Given the description of an element on the screen output the (x, y) to click on. 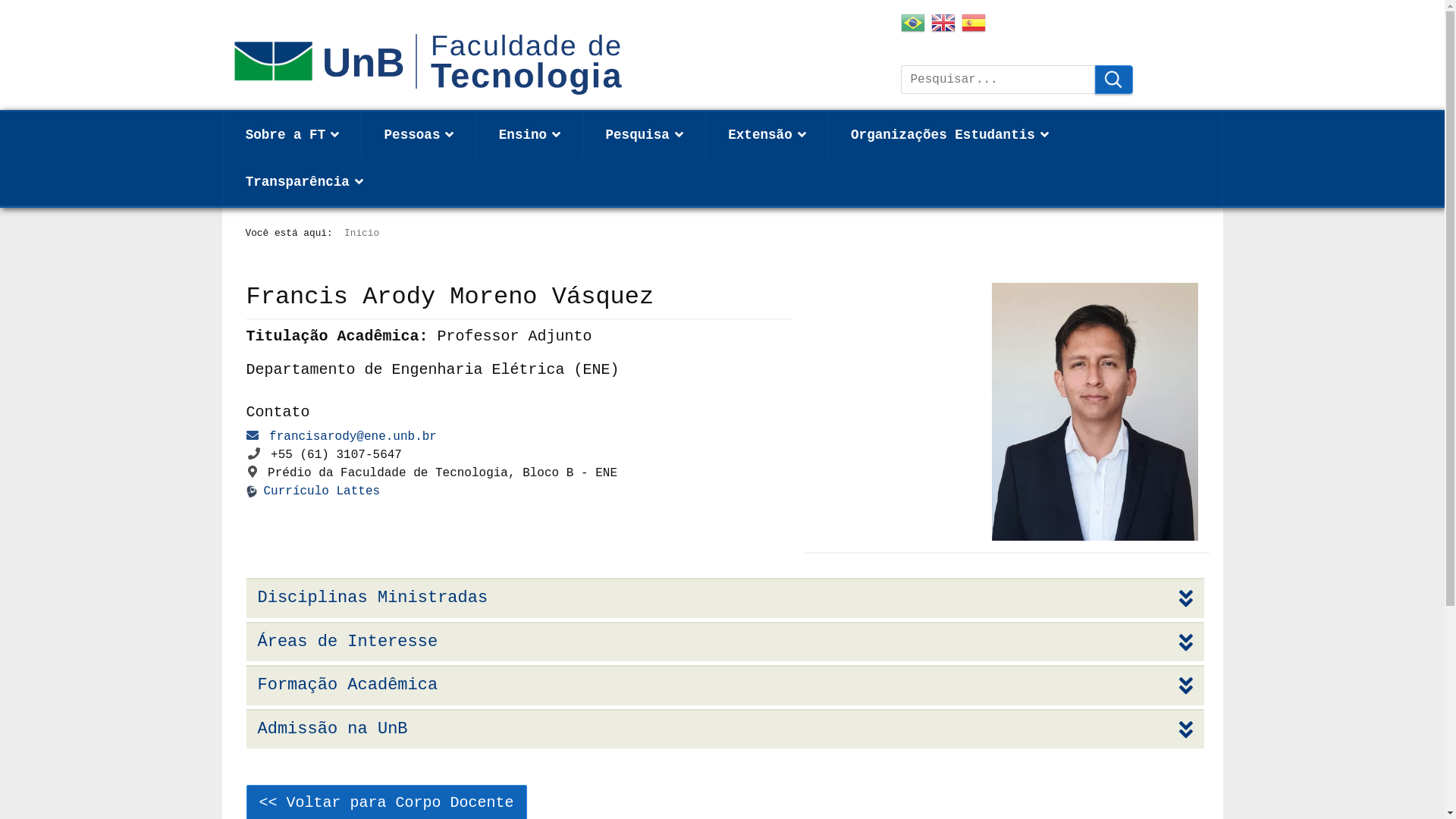
Pesquisa Element type: text (1113, 79)
Disciplinas Ministradas Element type: text (725, 598)
English Element type: hover (943, 25)
Spanish Element type: hover (973, 25)
Portuguese Element type: hover (912, 25)
francisarody@ene.unb.br Element type: text (352, 436)
